Given the description of an element on the screen output the (x, y) to click on. 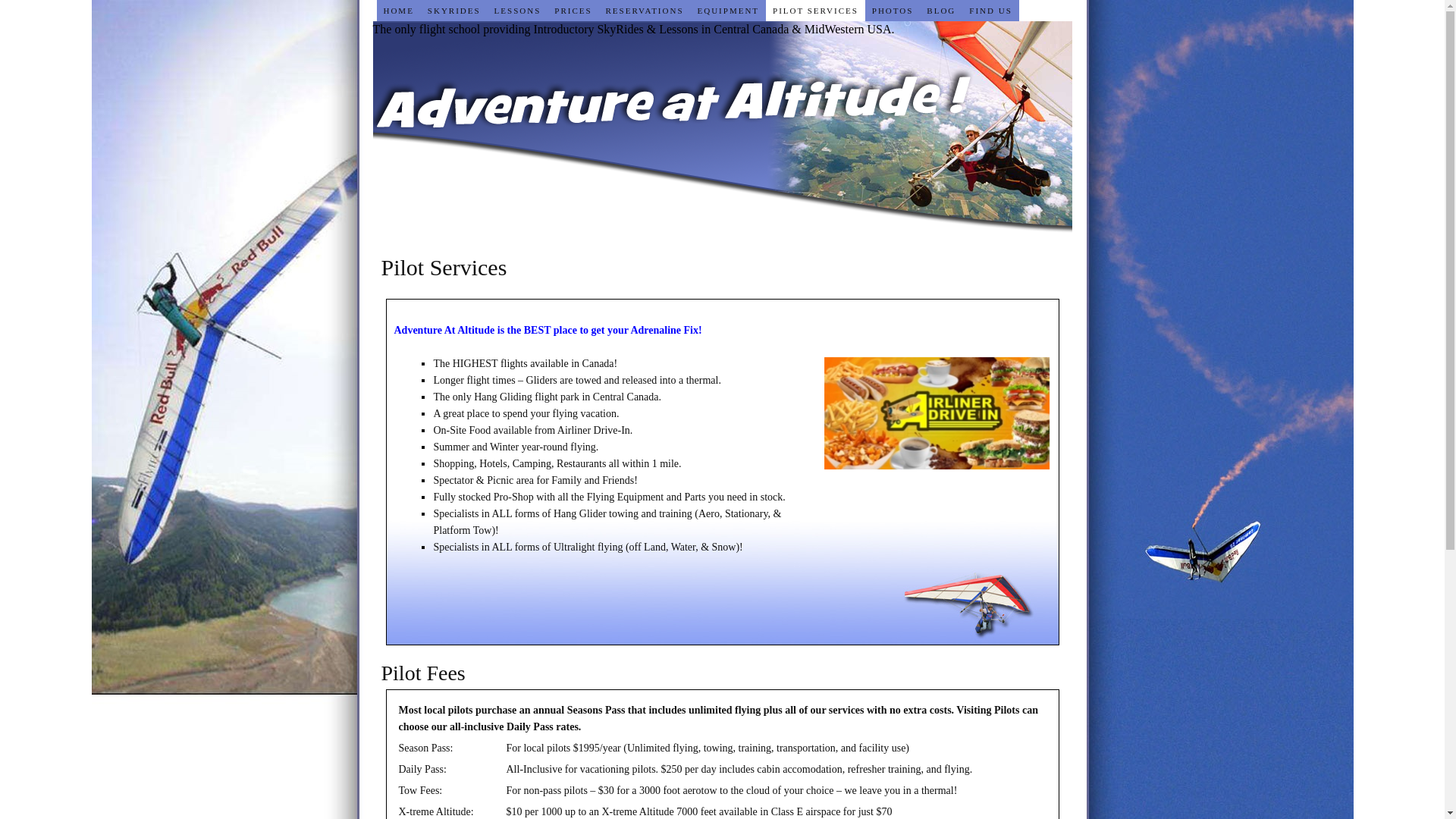
HOME Element type: text (398, 10)
SKYRIDES Element type: text (453, 10)
PILOT SERVICES Element type: text (815, 10)
EQUIPMENT Element type: text (728, 10)
RESERVATIONS Element type: text (644, 10)
FIND US Element type: text (990, 10)
BLOG Element type: text (940, 10)
PRICES Element type: text (572, 10)
LESSONS Element type: text (517, 10)
PHOTOS Element type: text (892, 10)
